Given the description of an element on the screen output the (x, y) to click on. 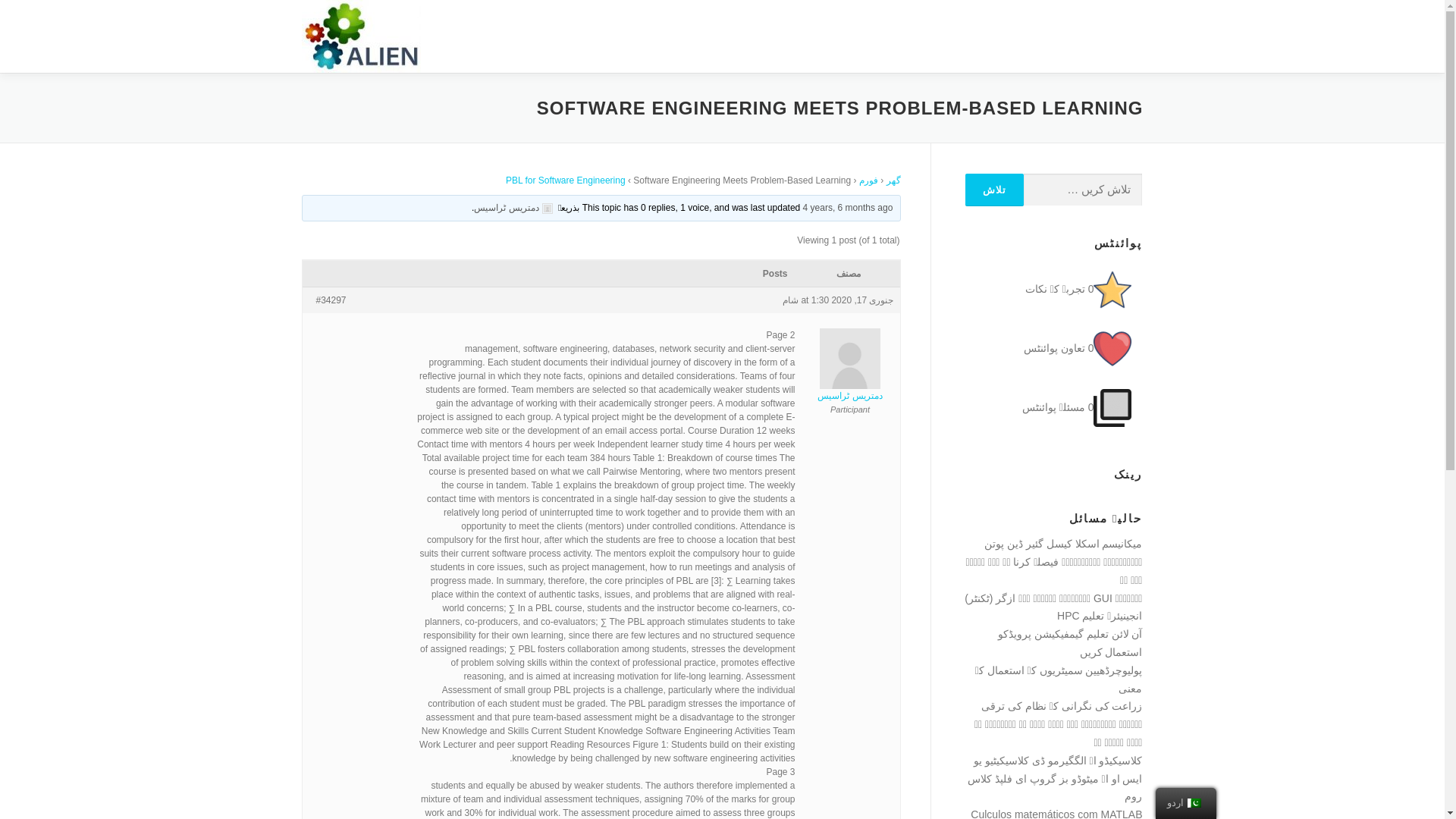
4 years, 6 months ago (848, 207)
Software Engineering Meets Problem-Based Learning (848, 207)
View Dimitris Tarasis's profile (849, 375)
PBL for Software Engineering (565, 180)
View Dimitris Tarasis's profile (514, 207)
